Given the description of an element on the screen output the (x, y) to click on. 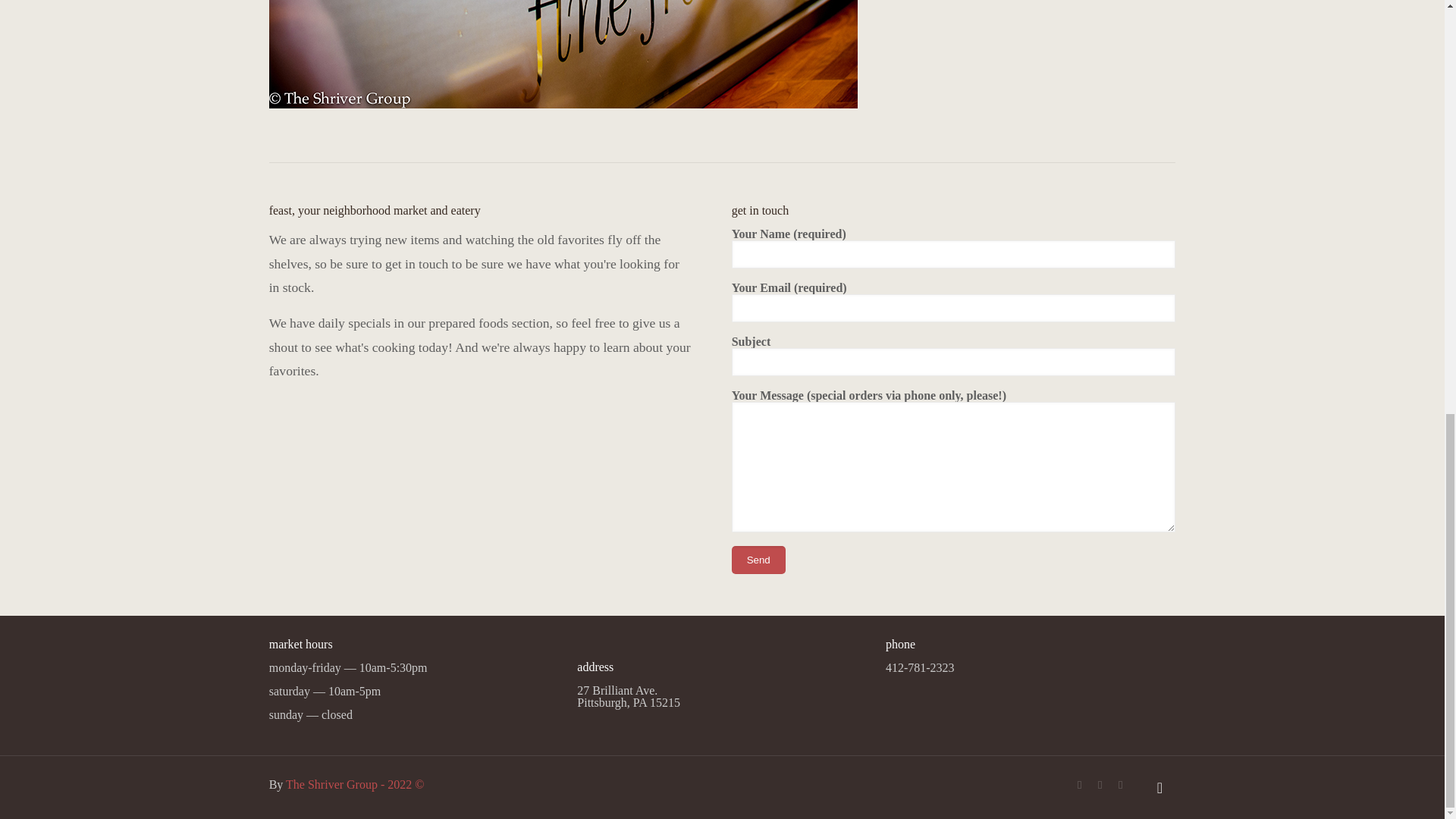
Send (759, 560)
Send (759, 560)
Instagram (1120, 784)
Twitter (1100, 784)
Facebook (1079, 784)
